Given the description of an element on the screen output the (x, y) to click on. 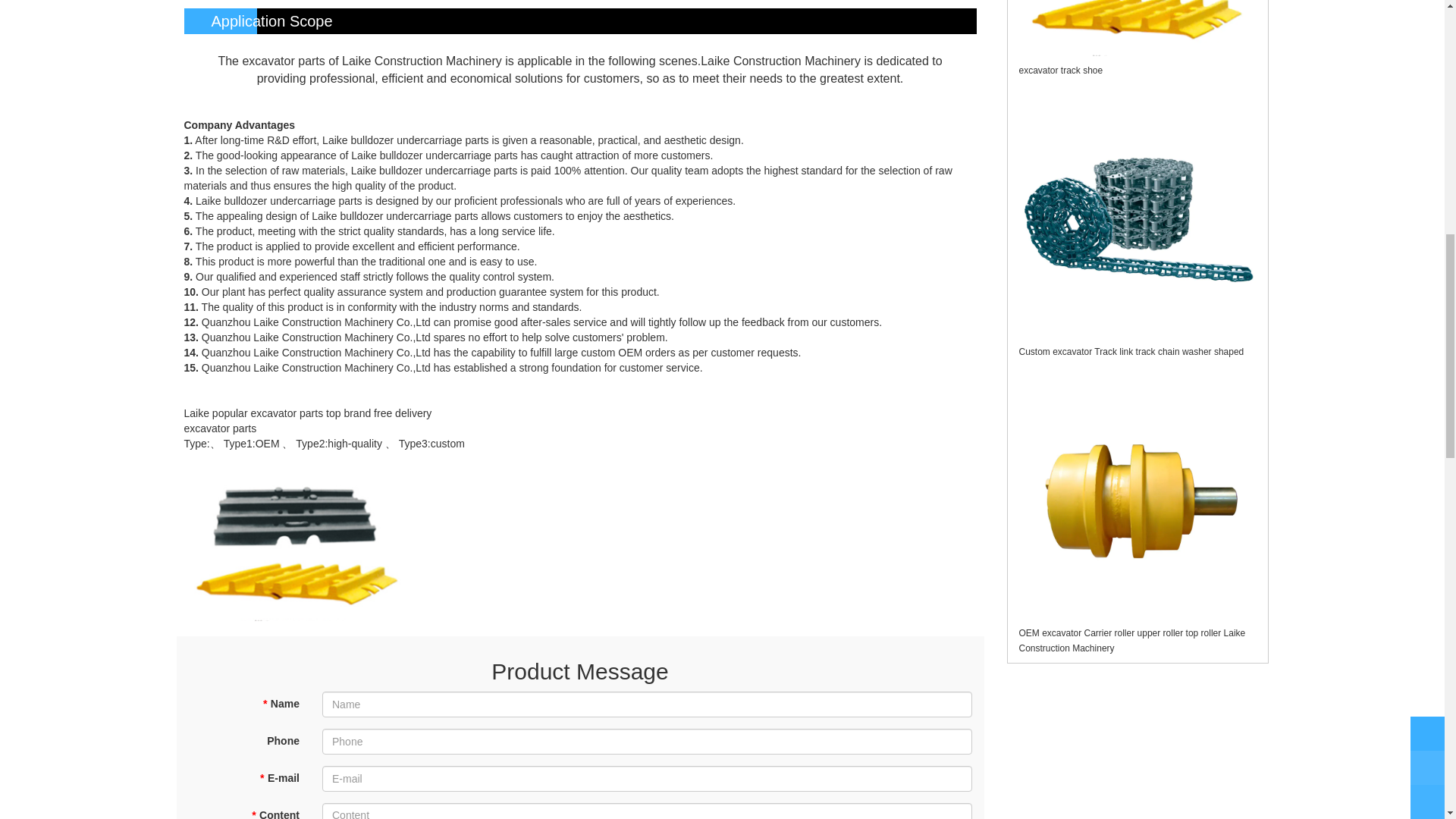
excavator track shoe (1061, 70)
Custom excavator Track link track chain washer shaped (1131, 351)
